Given the description of an element on the screen output the (x, y) to click on. 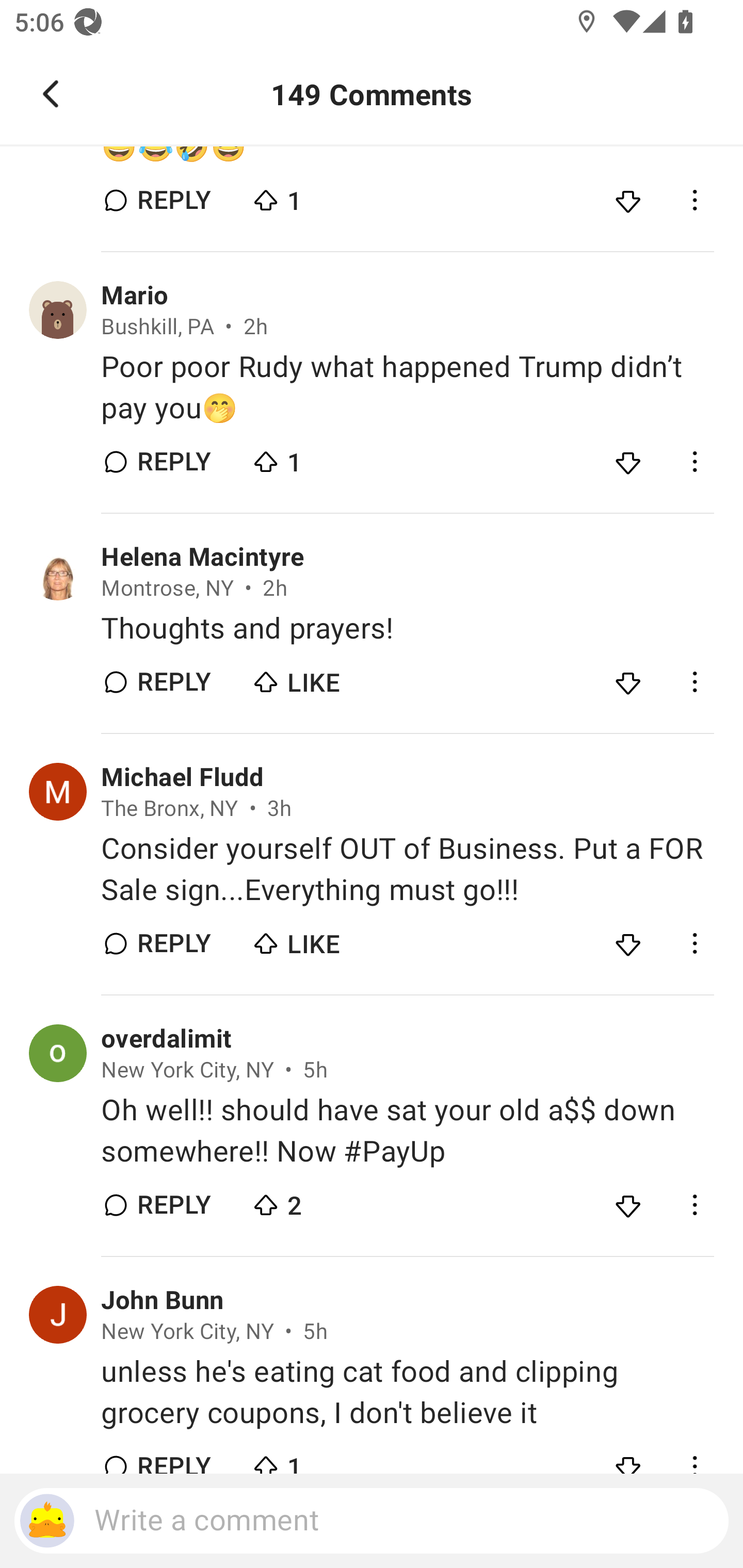
Navigate up (50, 93)
1 (320, 195)
REPLY (173, 199)
Mario (134, 295)
Poor poor Rudy what happened Trump didn’t pay you🤭 (407, 386)
1 (320, 456)
REPLY (173, 461)
Helena Macintyre (202, 557)
Thoughts and prayers! (407, 628)
LIKE (320, 678)
REPLY (173, 681)
Michael Fludd (182, 777)
LIKE (320, 938)
REPLY (173, 943)
overdalimit (166, 1038)
2 (320, 1200)
REPLY (173, 1205)
John Bunn (162, 1300)
Write a comment (371, 1520)
